Given the description of an element on the screen output the (x, y) to click on. 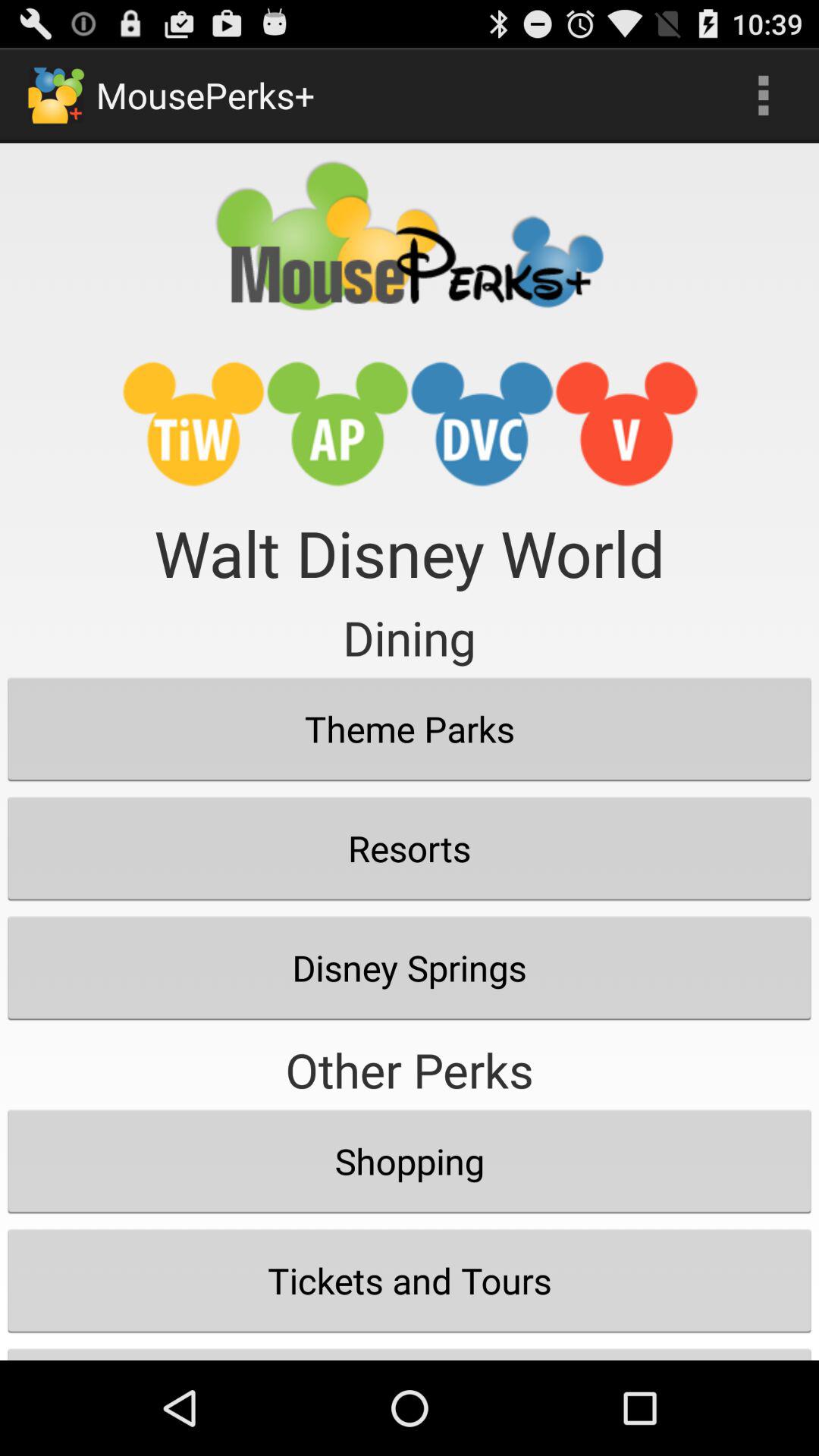
jump until the theme parks item (409, 728)
